Given the description of an element on the screen output the (x, y) to click on. 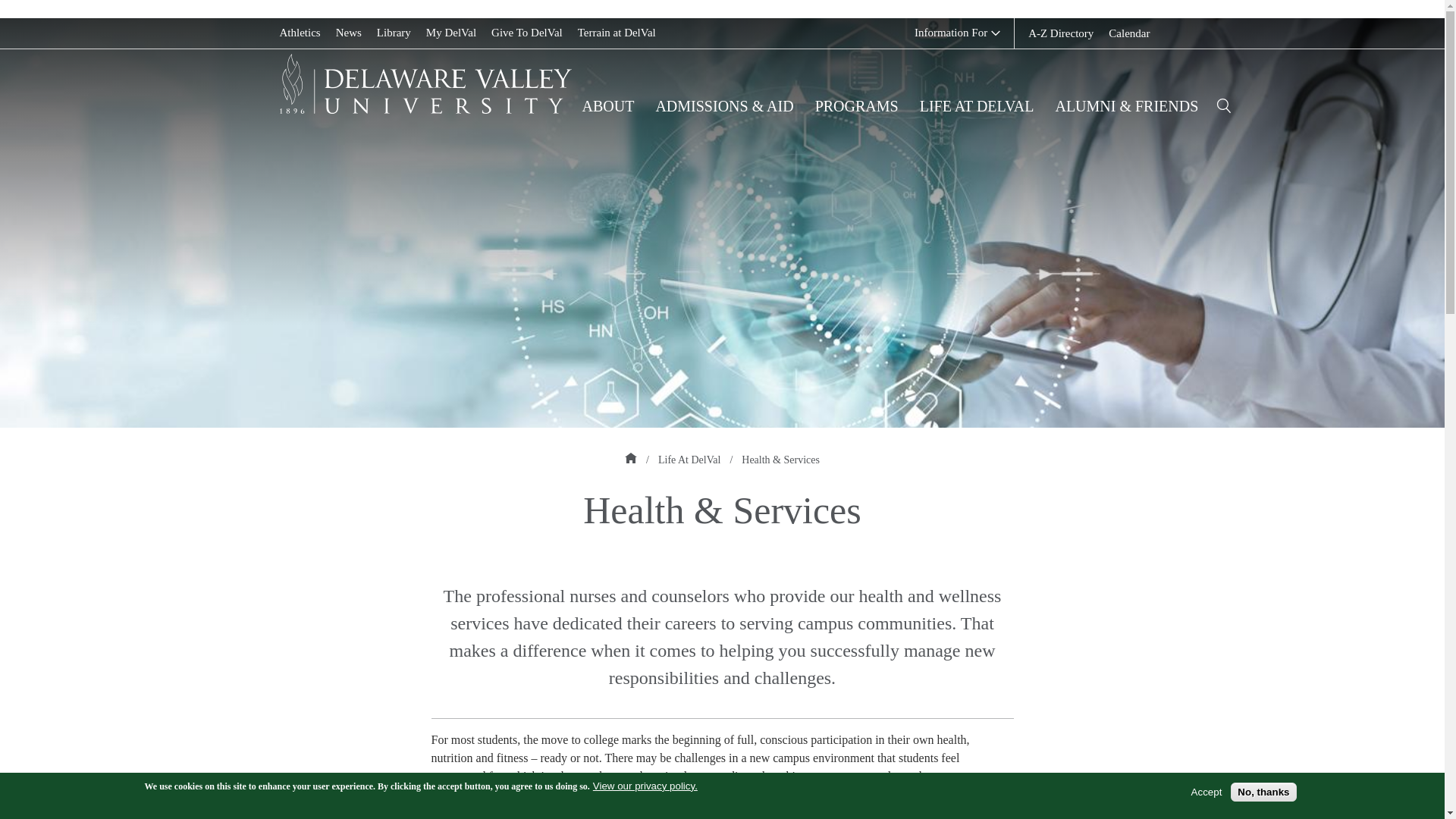
News (348, 32)
Athletics (299, 32)
Library (393, 32)
Terrain at DelVal (617, 32)
Terrain at DelVal (617, 32)
search (1223, 105)
Give To DelVal (527, 32)
Give To DelVal (527, 32)
Information For (957, 32)
Home (630, 457)
My DelVal (451, 32)
ABOUT (608, 105)
My.DelVal (451, 32)
A-Z Directory (1060, 33)
